Given the description of an element on the screen output the (x, y) to click on. 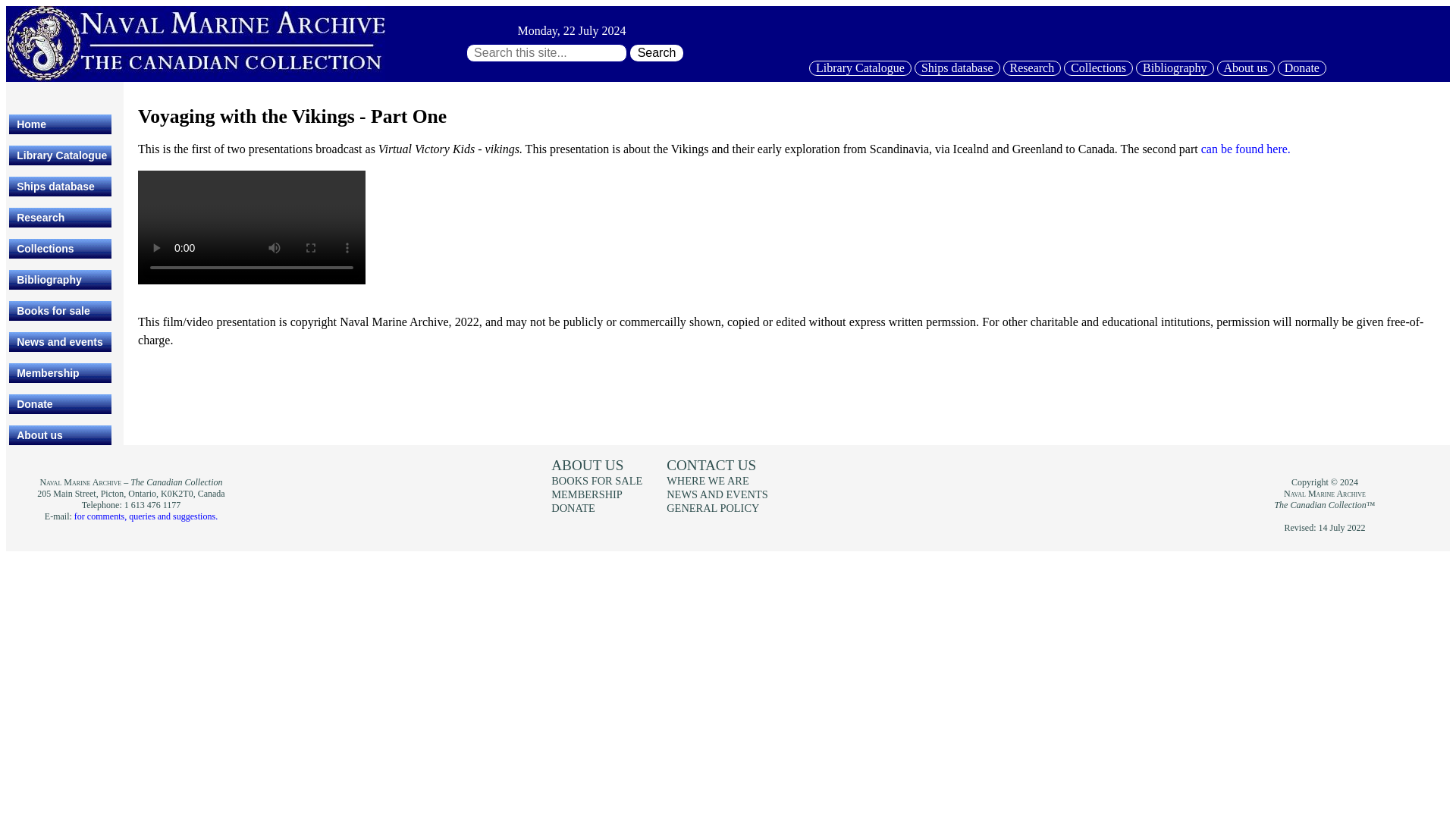
Library Catalogue (860, 68)
Bibliography (60, 279)
Ships database (60, 186)
Donate (1302, 68)
ABOUT US (587, 468)
can be found here. (1245, 148)
Research (1032, 68)
GENERAL POLICY (712, 508)
DONATE (573, 508)
Ships database (957, 68)
Home (60, 124)
Collections (60, 248)
Donate (60, 403)
MEMBERSHIP (587, 494)
CONTACT US (710, 468)
